Given the description of an element on the screen output the (x, y) to click on. 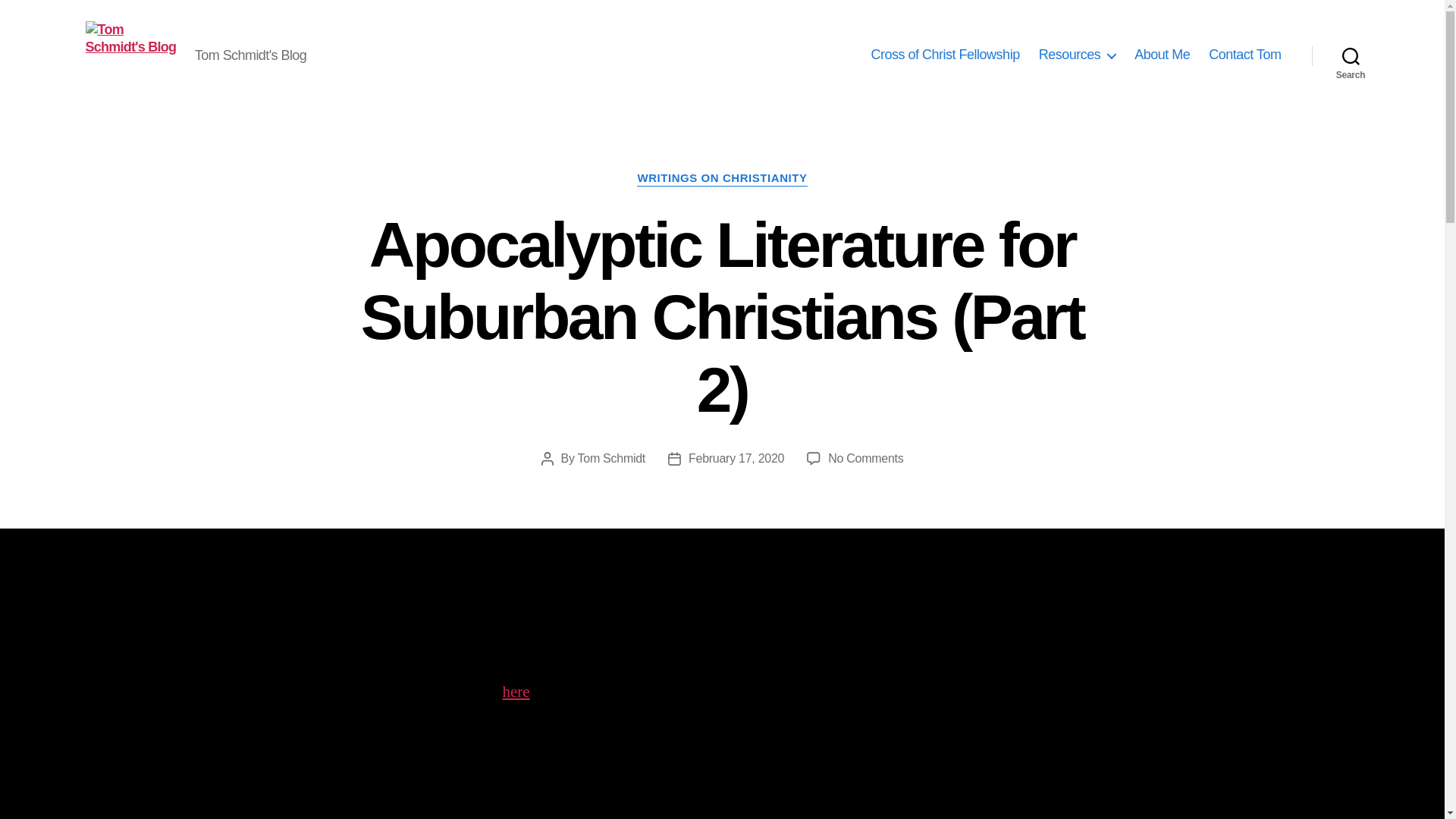
Cross of Christ Fellowship (945, 54)
Resources (1077, 54)
Tom Schmidt (612, 458)
February 17, 2020 (736, 458)
About Me (1161, 54)
here (515, 691)
Search (1350, 55)
WRITINGS ON CHRISTIANITY (721, 178)
Contact Tom (1244, 54)
